Given the description of an element on the screen output the (x, y) to click on. 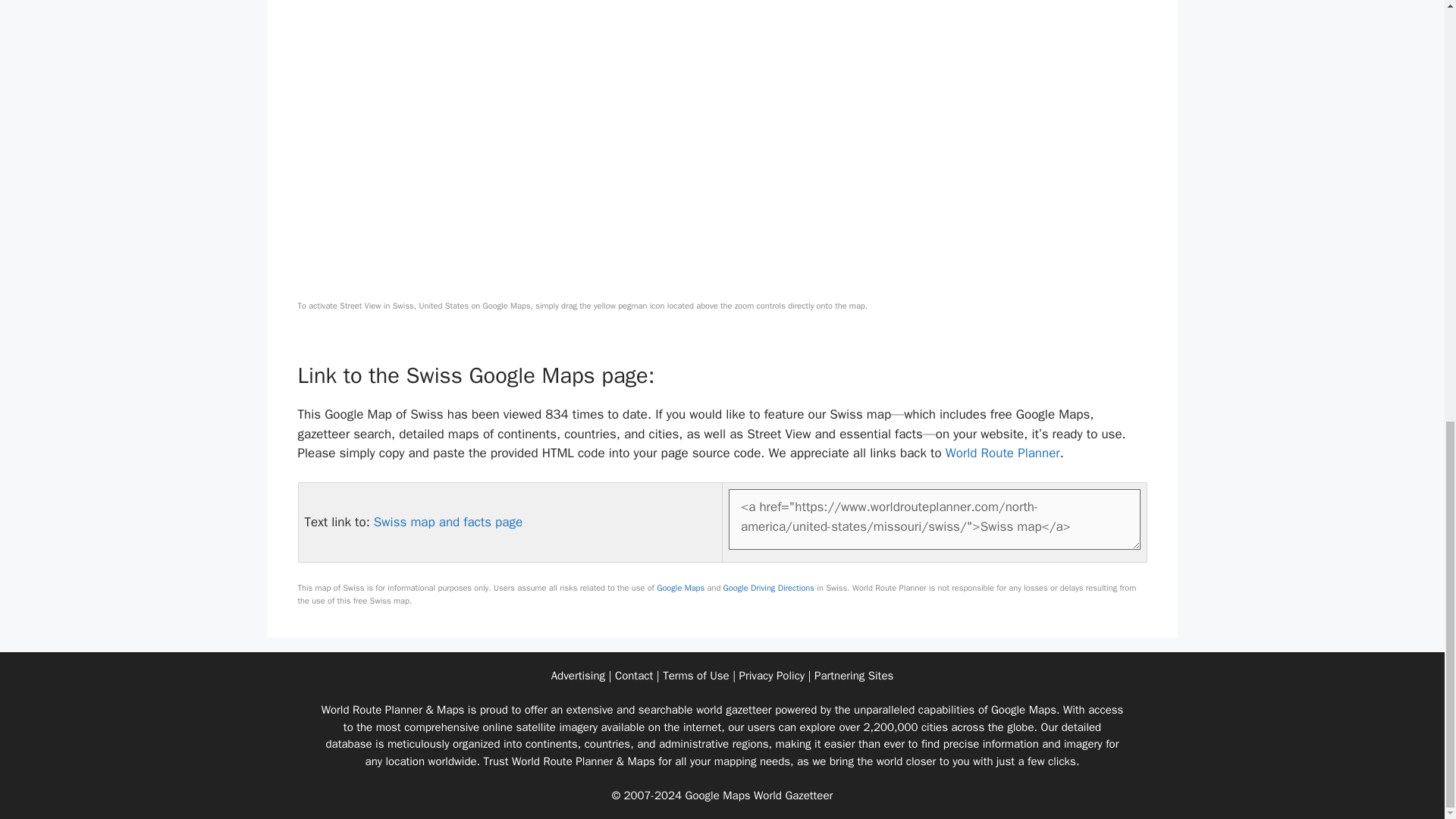
Contact (633, 675)
Google Maps (680, 587)
Advertising (578, 675)
World Route Planner (1001, 453)
Terms of Use (695, 675)
Partnering Sites (853, 675)
Swiss map and facts page (448, 521)
Privacy Policy (772, 675)
Google Driving Directions (768, 587)
